Given the description of an element on the screen output the (x, y) to click on. 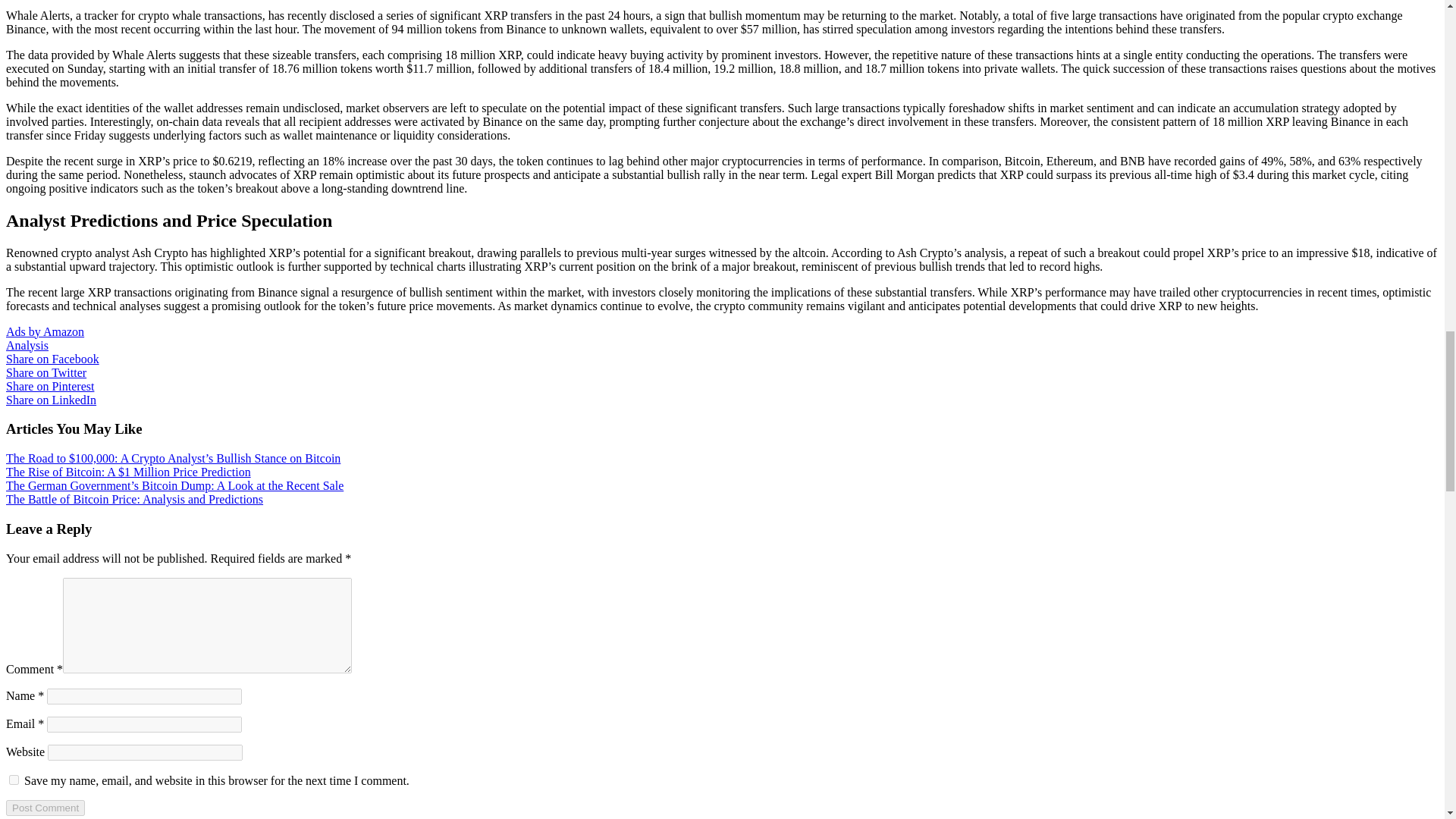
Post Comment (44, 806)
Analysis (26, 345)
yes (13, 779)
